Given the description of an element on the screen output the (x, y) to click on. 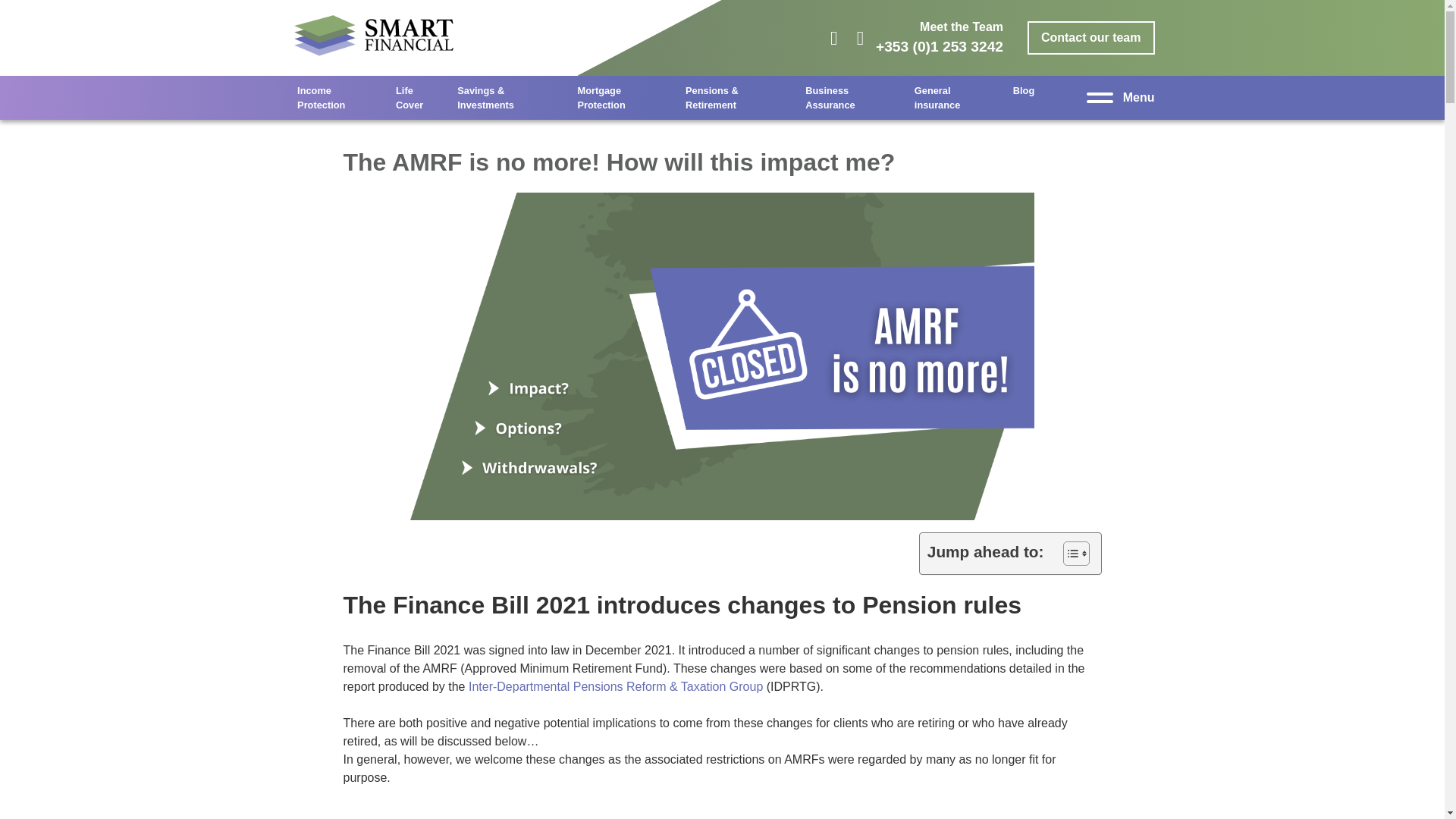
Contact our team (1090, 37)
Mortgage Protection (622, 97)
Blog (1023, 90)
Menu (1138, 97)
General insurance (956, 97)
Income Protection (339, 97)
Contact our team (1090, 37)
Meet the Team (961, 26)
Life Cover (419, 97)
Business Assurance (852, 97)
